Given the description of an element on the screen output the (x, y) to click on. 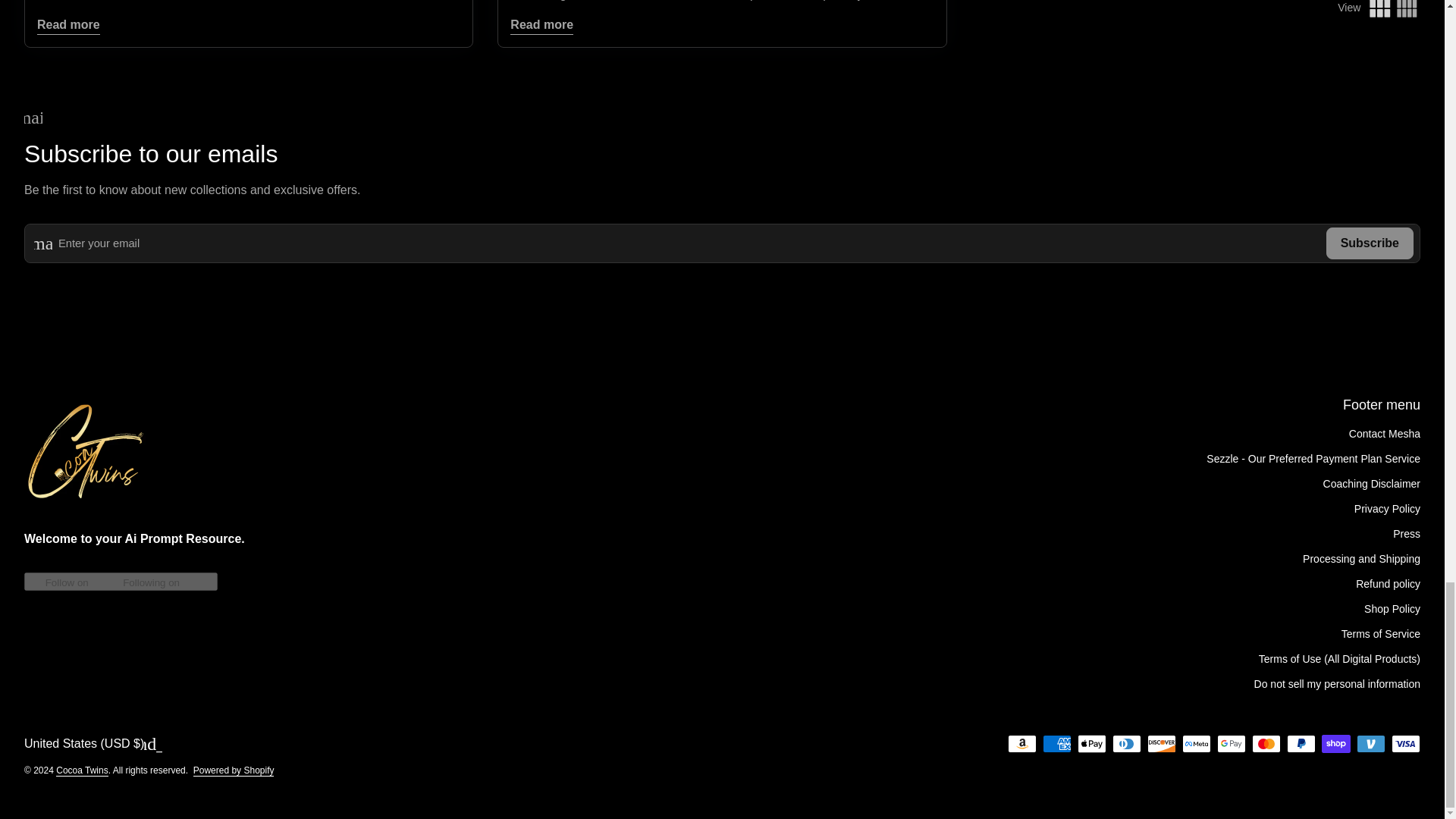
Contact Mesha (1385, 433)
Privacy Policy (1387, 508)
Subscribe (1369, 243)
Home (84, 456)
Sezzle - Our Preferred Payment Plan Service (1314, 458)
Subscribe (1369, 243)
Coaching Disclaimer (1372, 483)
